Given the description of an element on the screen output the (x, y) to click on. 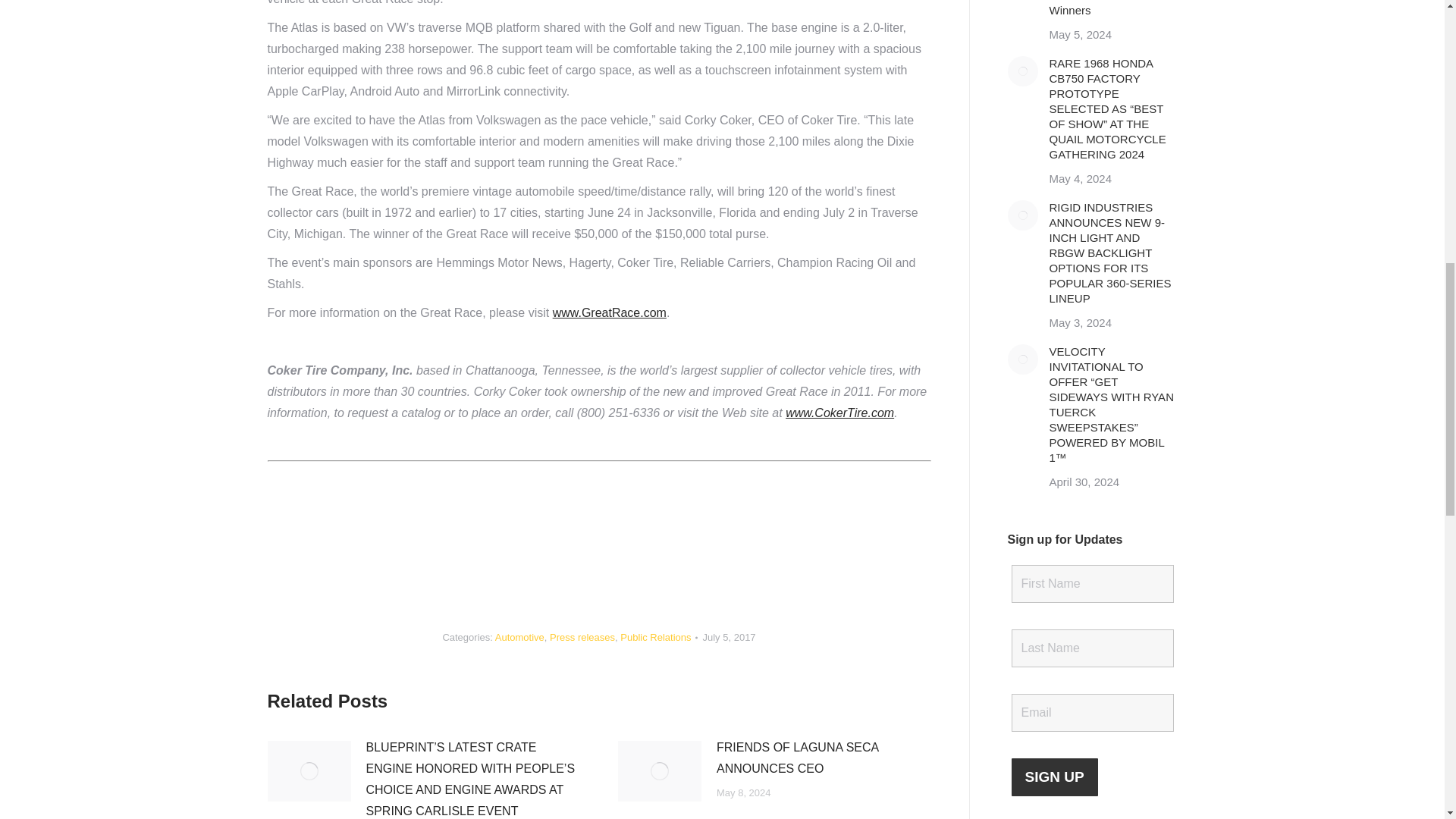
www.CokerTire.com (839, 412)
6:00 am (728, 637)
Press releases (582, 636)
www.GreatRace.com (609, 312)
July 5, 2017 (728, 637)
FRIENDS OF LAGUNA SECA ANNOUNCES CEO (823, 758)
SIGN UP (1054, 777)
Public Relations (655, 636)
Automotive (519, 636)
